Given the description of an element on the screen output the (x, y) to click on. 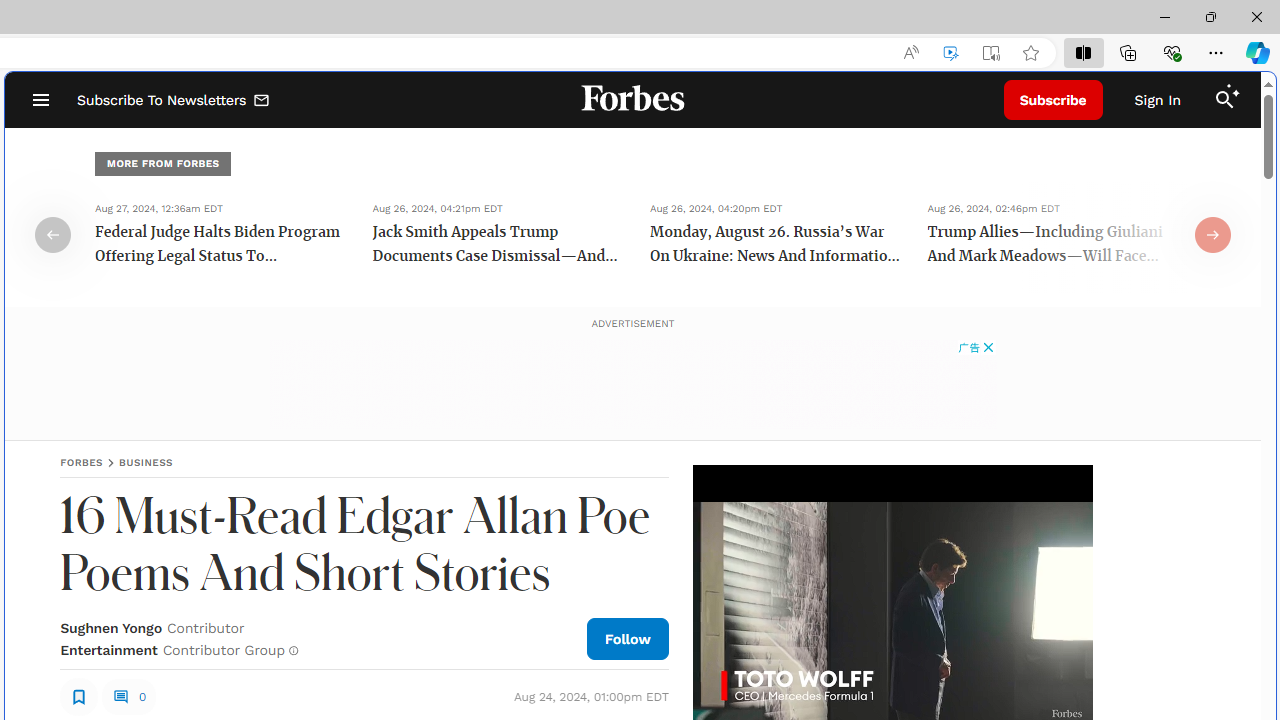
Class: fs-icon fs-icon--comment (120, 696)
Follow Author (627, 638)
Class: fs-icon fs-icon--arrow-left (52, 234)
Arrow Left (52, 234)
Class: sElHJWe4 (79, 696)
Subscribe To Newsletters (173, 99)
FORBES (81, 462)
